Given the description of an element on the screen output the (x, y) to click on. 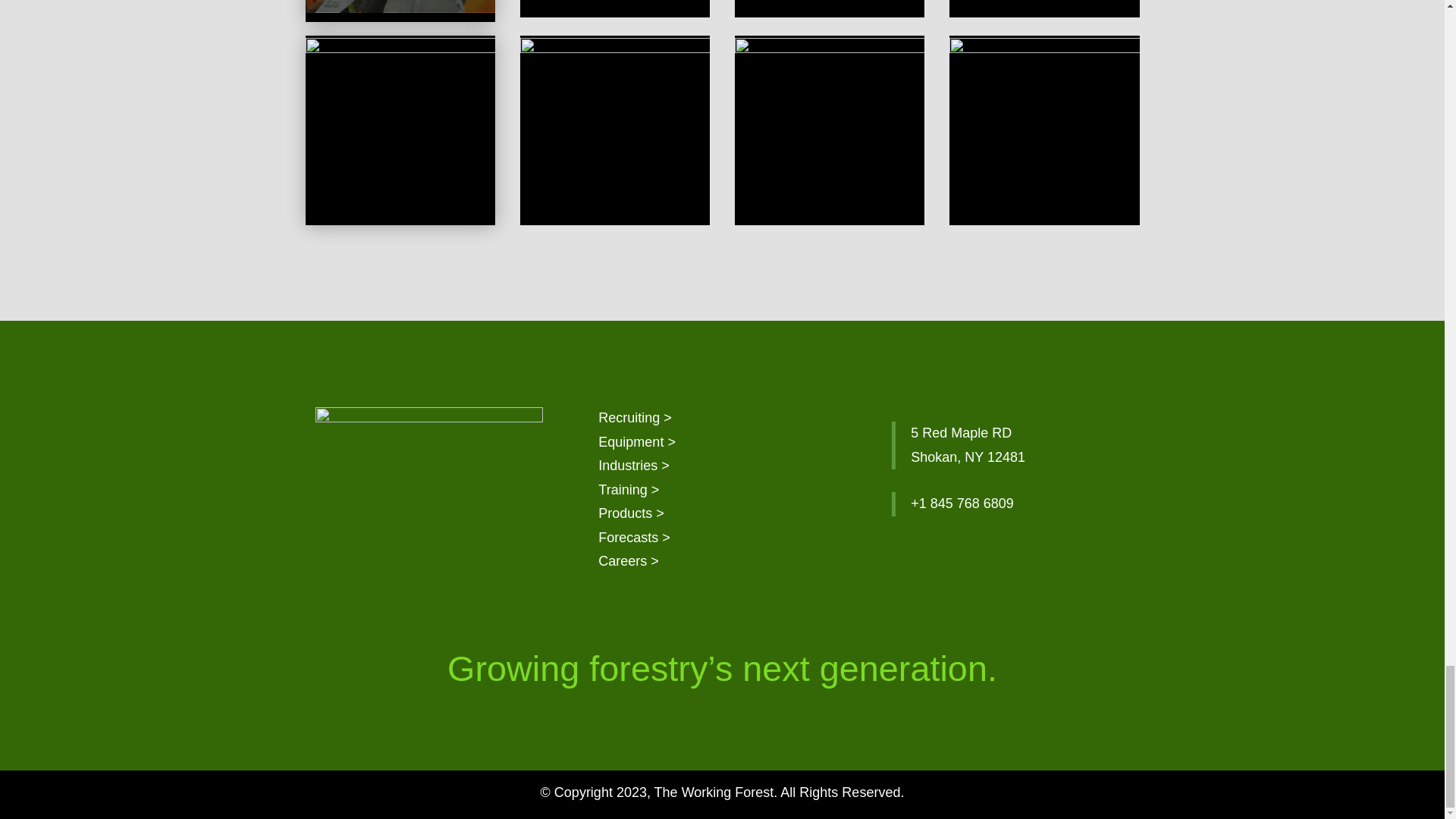
Equipment Information (636, 441)
Career Information (628, 560)
Recruiting Information (634, 417)
Industries (633, 465)
Products (630, 513)
Forcasts (633, 537)
Training Information (628, 489)
